Given the description of an element on the screen output the (x, y) to click on. 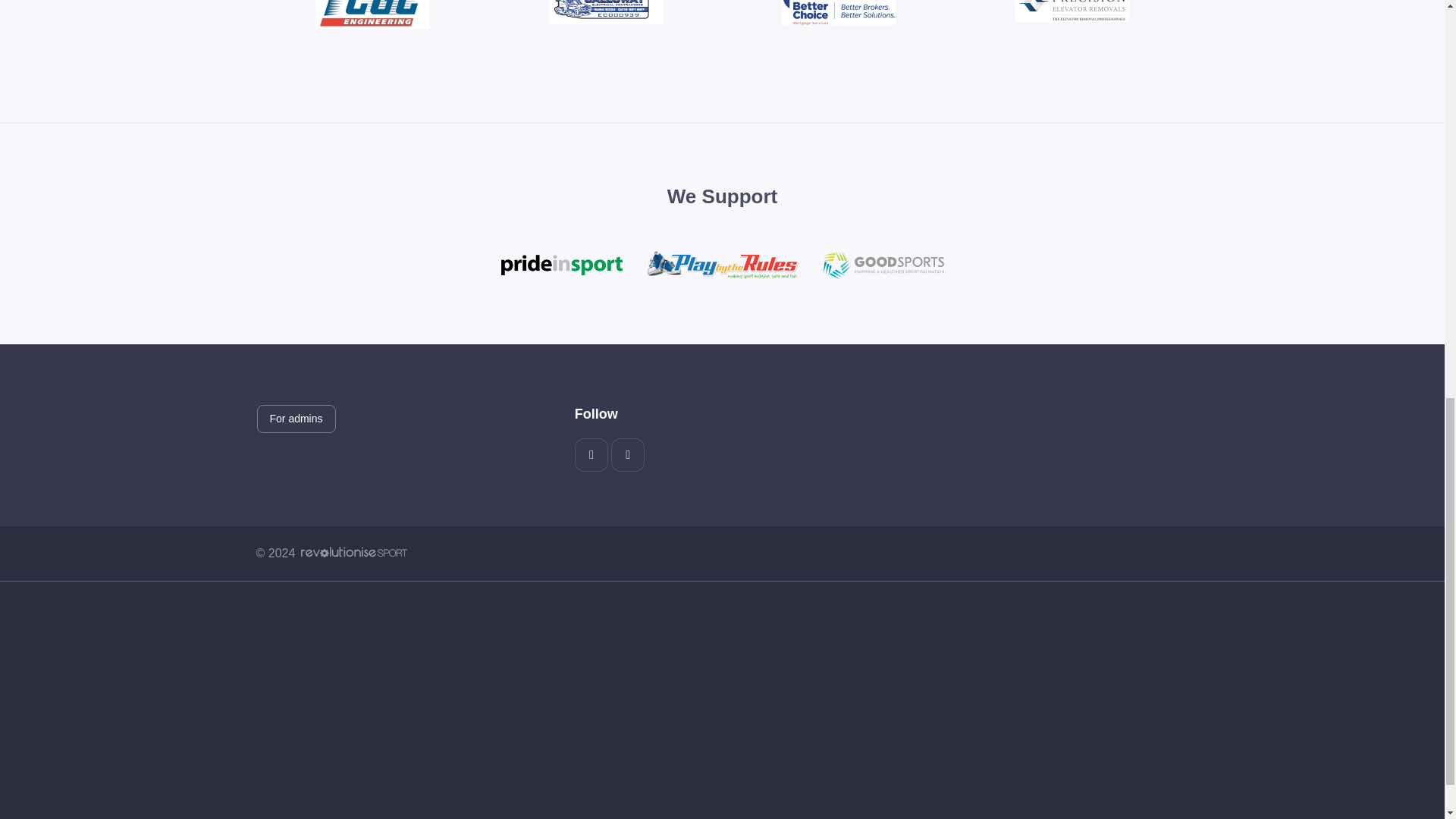
Better Choice (838, 12)
Precision Elevator Removals (1071, 11)
CGC Engineering (372, 14)
Galloway Electrical Contractors (605, 12)
